Given the description of an element on the screen output the (x, y) to click on. 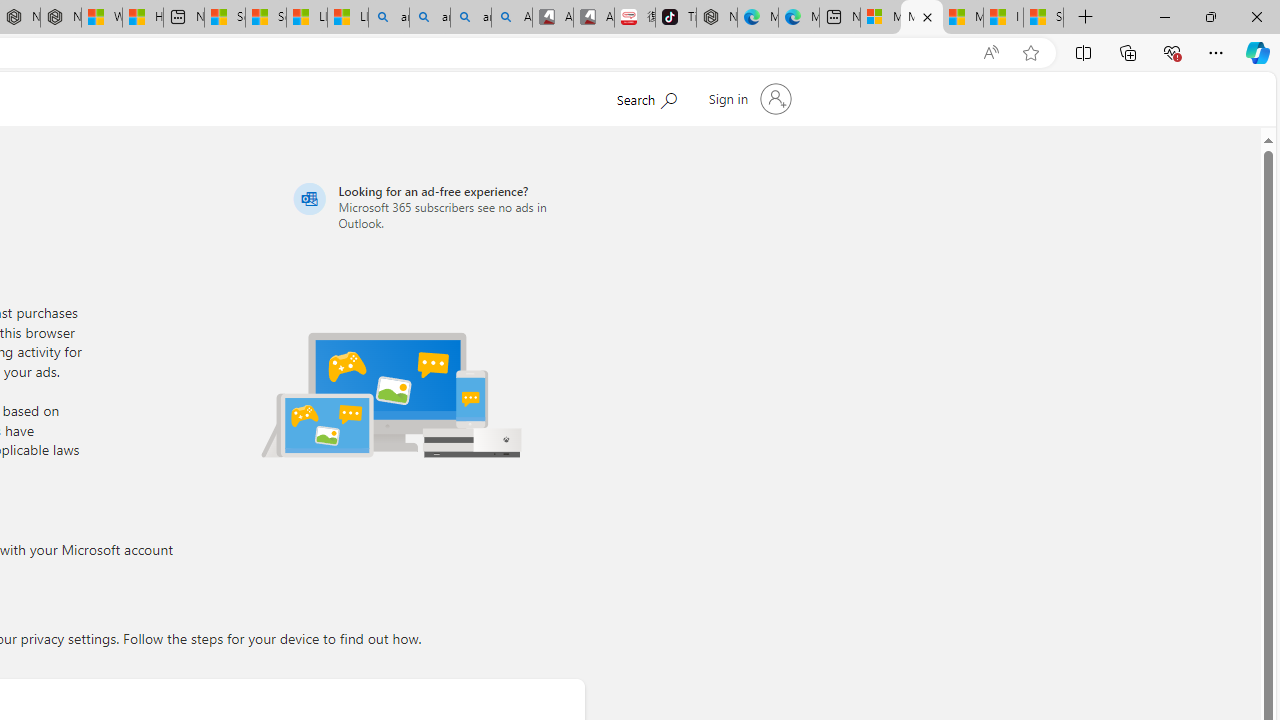
Search Microsoft.com (646, 97)
Nordace - Best Sellers (717, 17)
All Cubot phones (593, 17)
amazon - Search Images (470, 17)
Amazon Echo Robot - Search Images (511, 17)
